Given the description of an element on the screen output the (x, y) to click on. 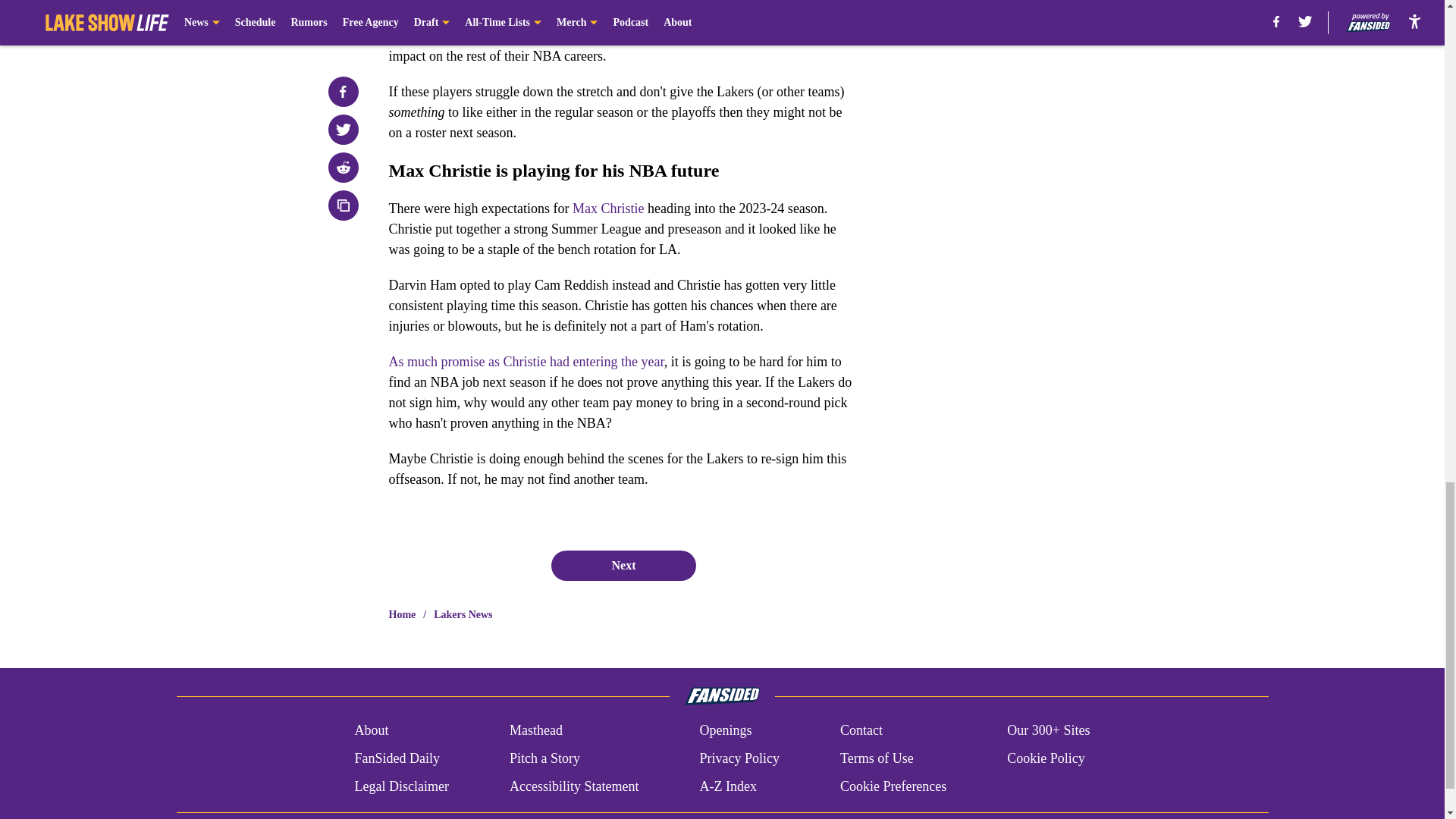
Next (622, 565)
Max Christie (608, 208)
As much promise as Christie had entering the year (525, 361)
